Given the description of an element on the screen output the (x, y) to click on. 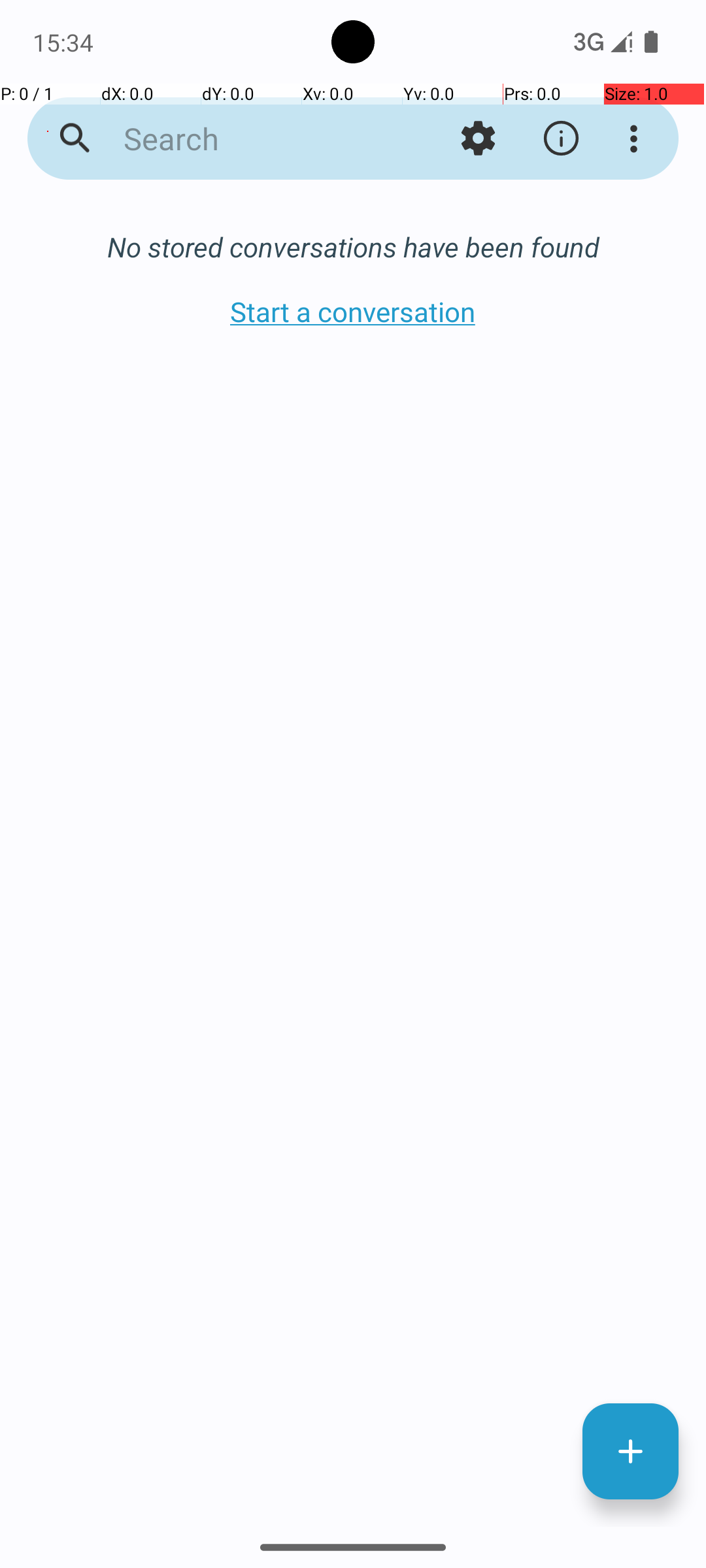
No stored conversations have been found Element type: android.widget.TextView (353, 246)
Start a conversation Element type: android.widget.TextView (352, 311)
